Given the description of an element on the screen output the (x, y) to click on. 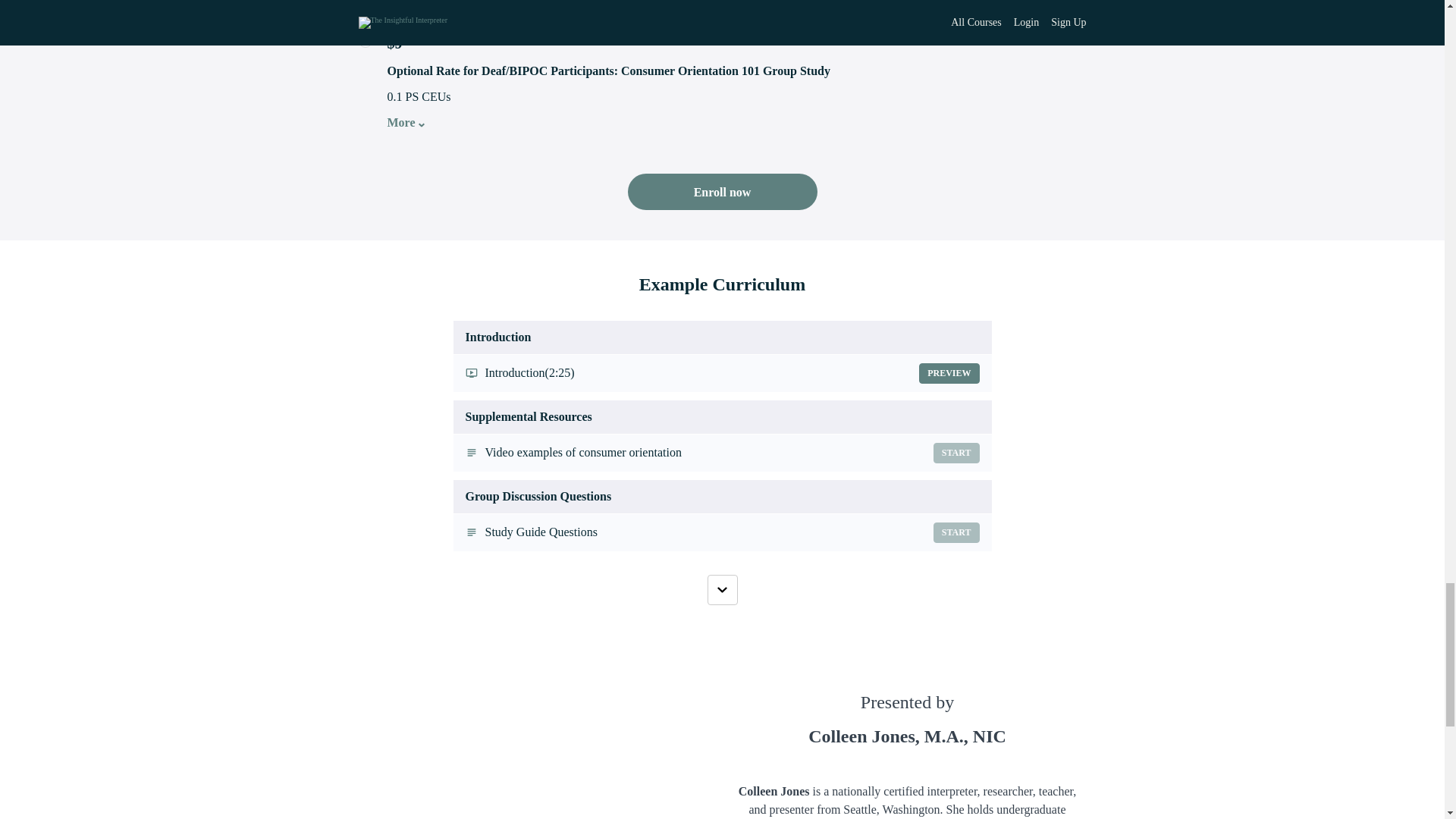
PREVIEW (948, 373)
START (956, 532)
Enroll now (721, 191)
More (402, 122)
START (721, 532)
